Given the description of an element on the screen output the (x, y) to click on. 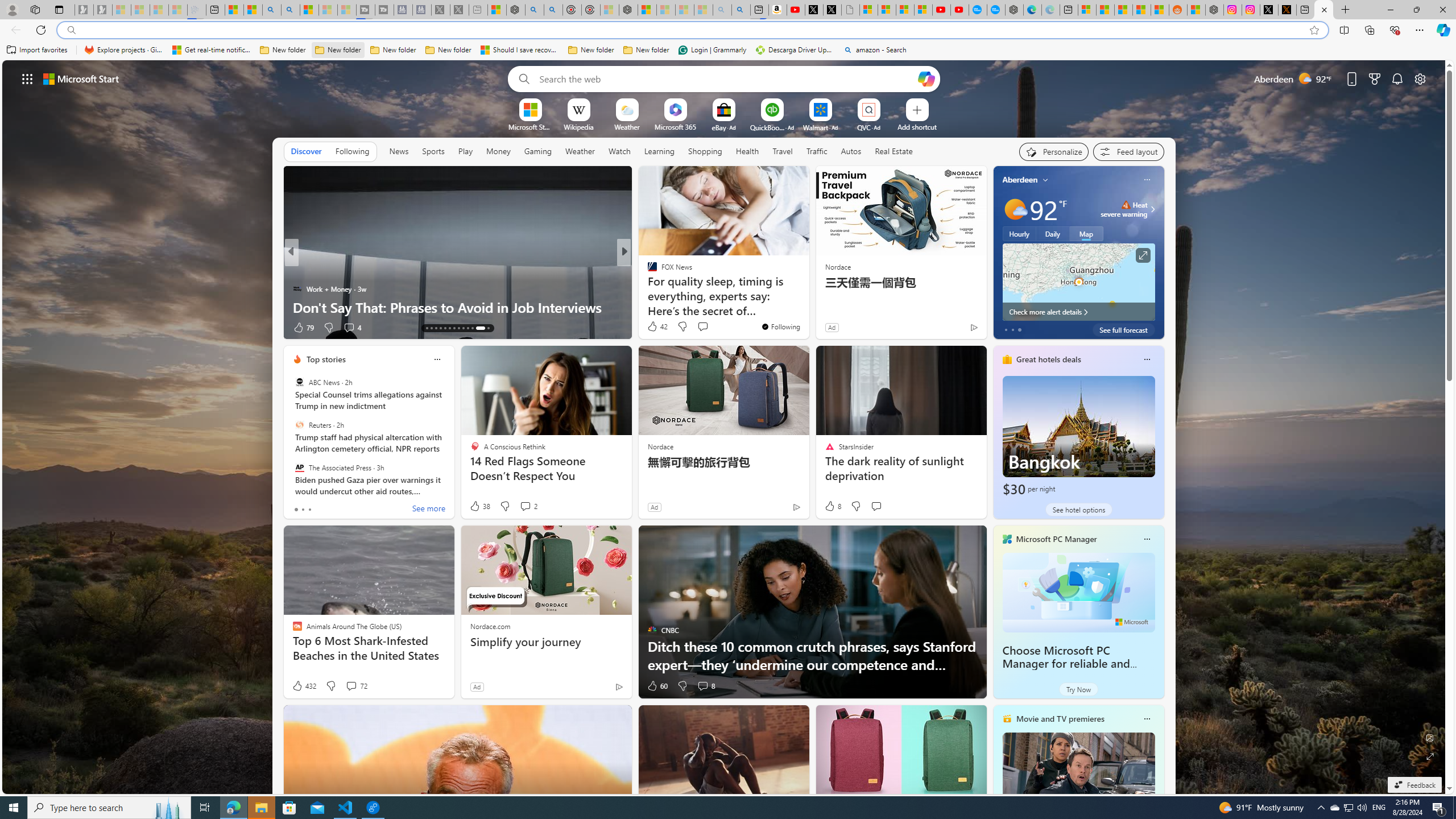
Try Now (1078, 689)
AutomationID: tab-21 (462, 328)
Heat - Severe Heat severe warning (1123, 208)
Great hotels deals (1048, 359)
AutomationID: tab-17 (444, 328)
View comments 72 Comment (350, 685)
